Given the description of an element on the screen output the (x, y) to click on. 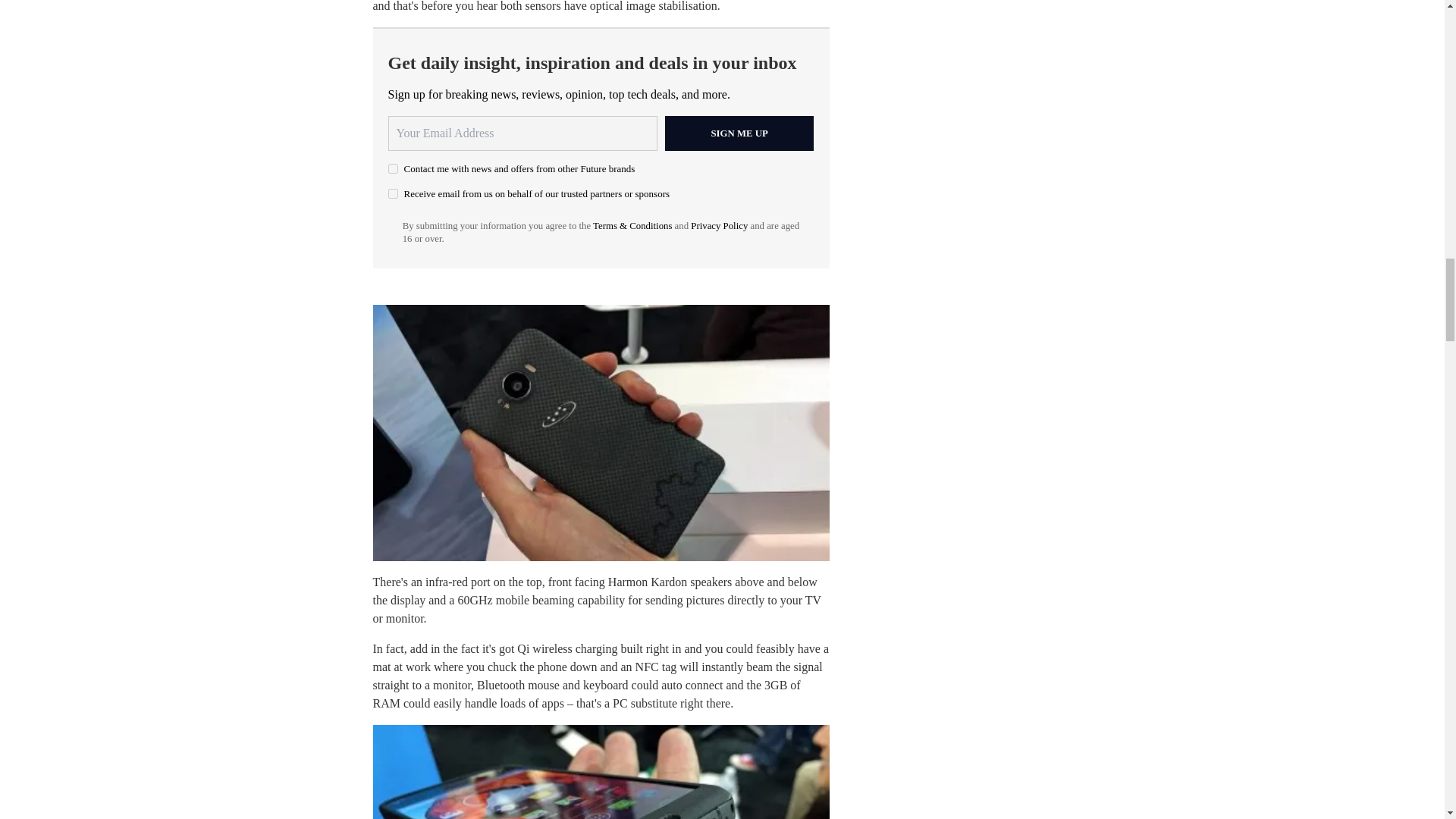
on (392, 168)
Sign me up (739, 133)
on (392, 194)
